Given the description of an element on the screen output the (x, y) to click on. 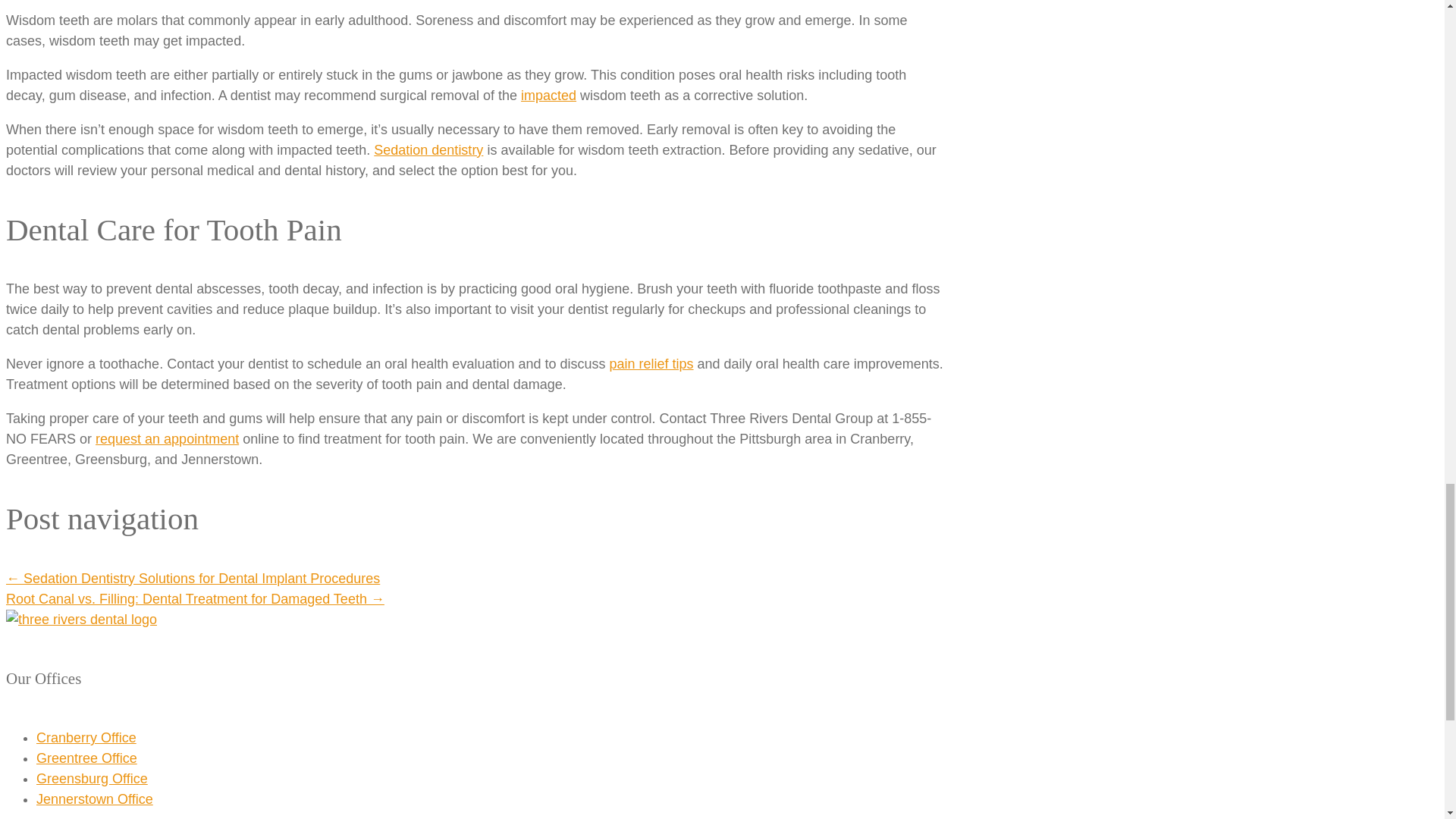
Three-Rivers-Dental-Group (81, 619)
